Given the description of an element on the screen output the (x, y) to click on. 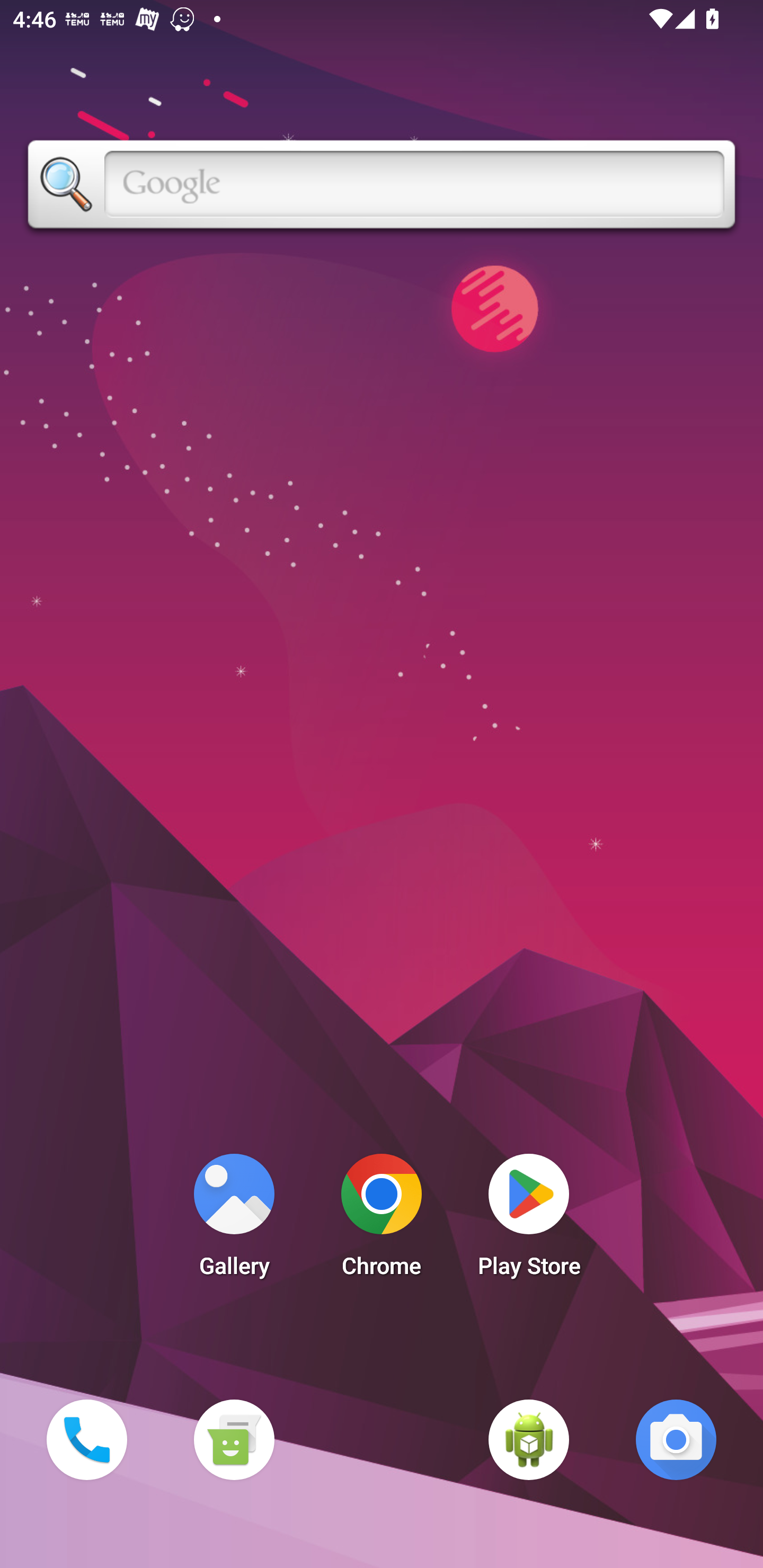
Gallery (233, 1220)
Chrome (381, 1220)
Play Store (528, 1220)
Phone (86, 1439)
Messaging (233, 1439)
WebView Browser Tester (528, 1439)
Camera (676, 1439)
